Given the description of an element on the screen output the (x, y) to click on. 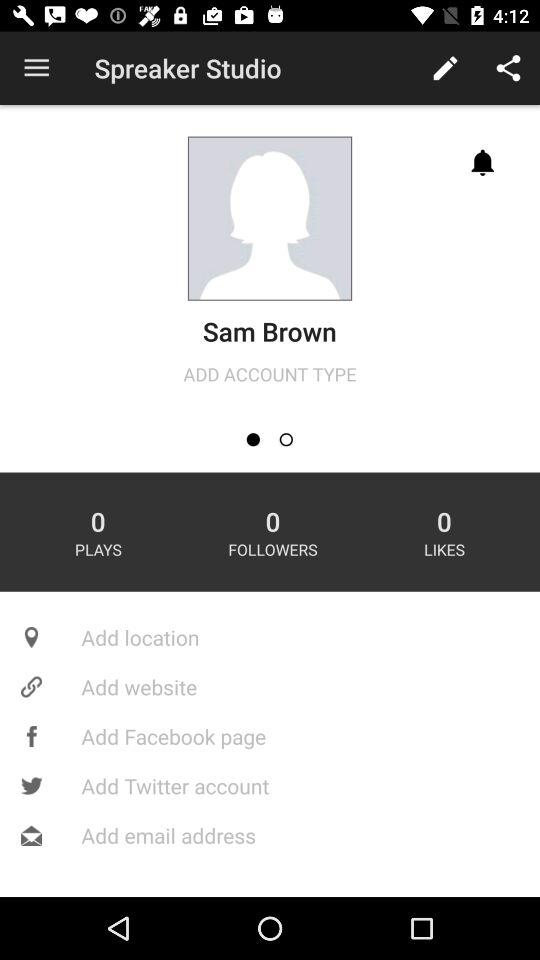
open app next to the spreaker studio item (36, 68)
